Given the description of an element on the screen output the (x, y) to click on. 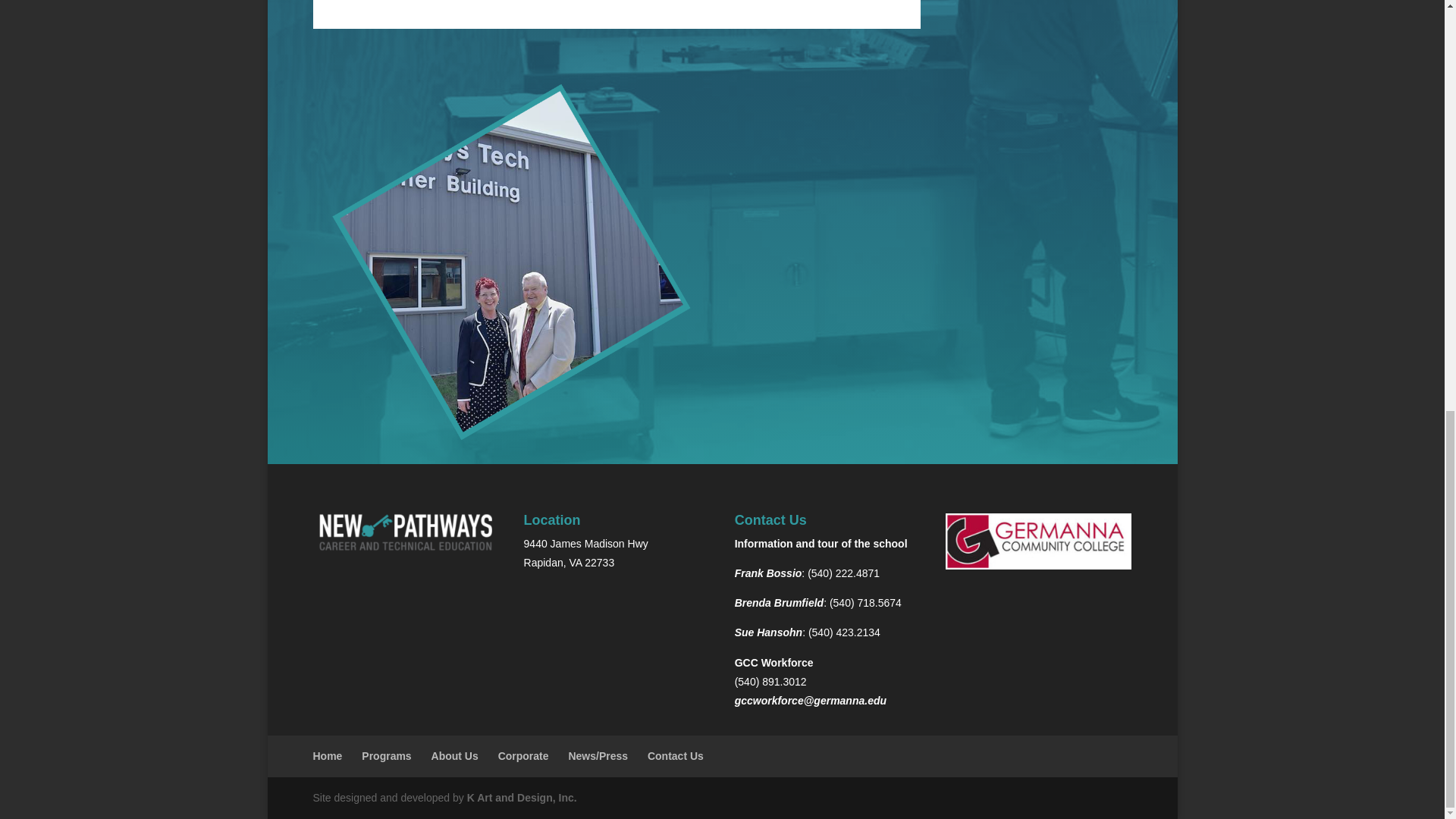
Corporate (522, 756)
Contact Us (675, 756)
Brenda Brumfield (779, 603)
About Us (454, 756)
Frank Bossio (768, 573)
Programs (385, 756)
K Art and Design, Inc. (521, 797)
Sue Hansohn (768, 632)
Home (327, 756)
